Given the description of an element on the screen output the (x, y) to click on. 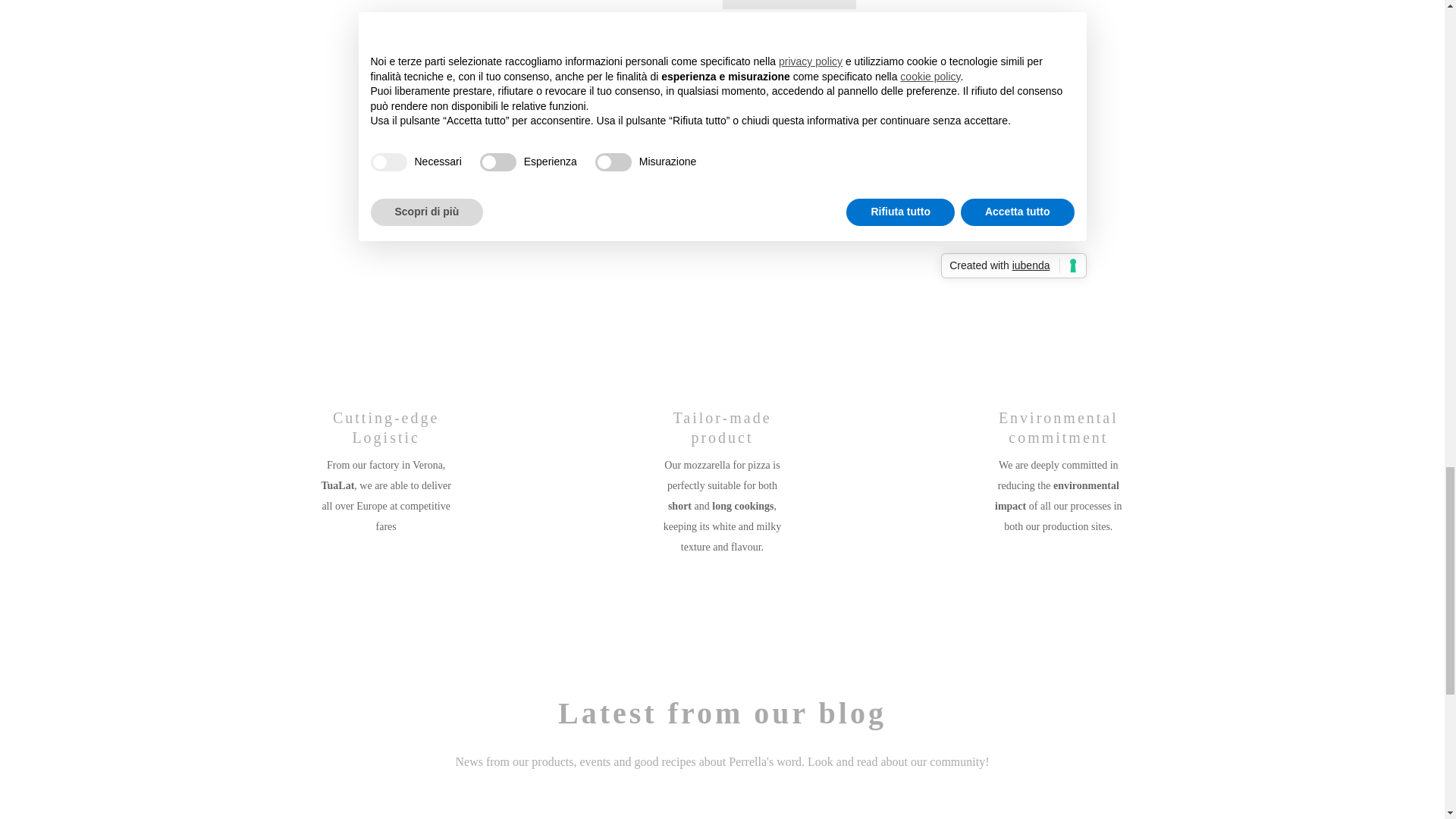
download (385, 335)
download-13 (722, 335)
images2 (1058, 335)
Download the Brochure (789, 4)
